Given the description of an element on the screen output the (x, y) to click on. 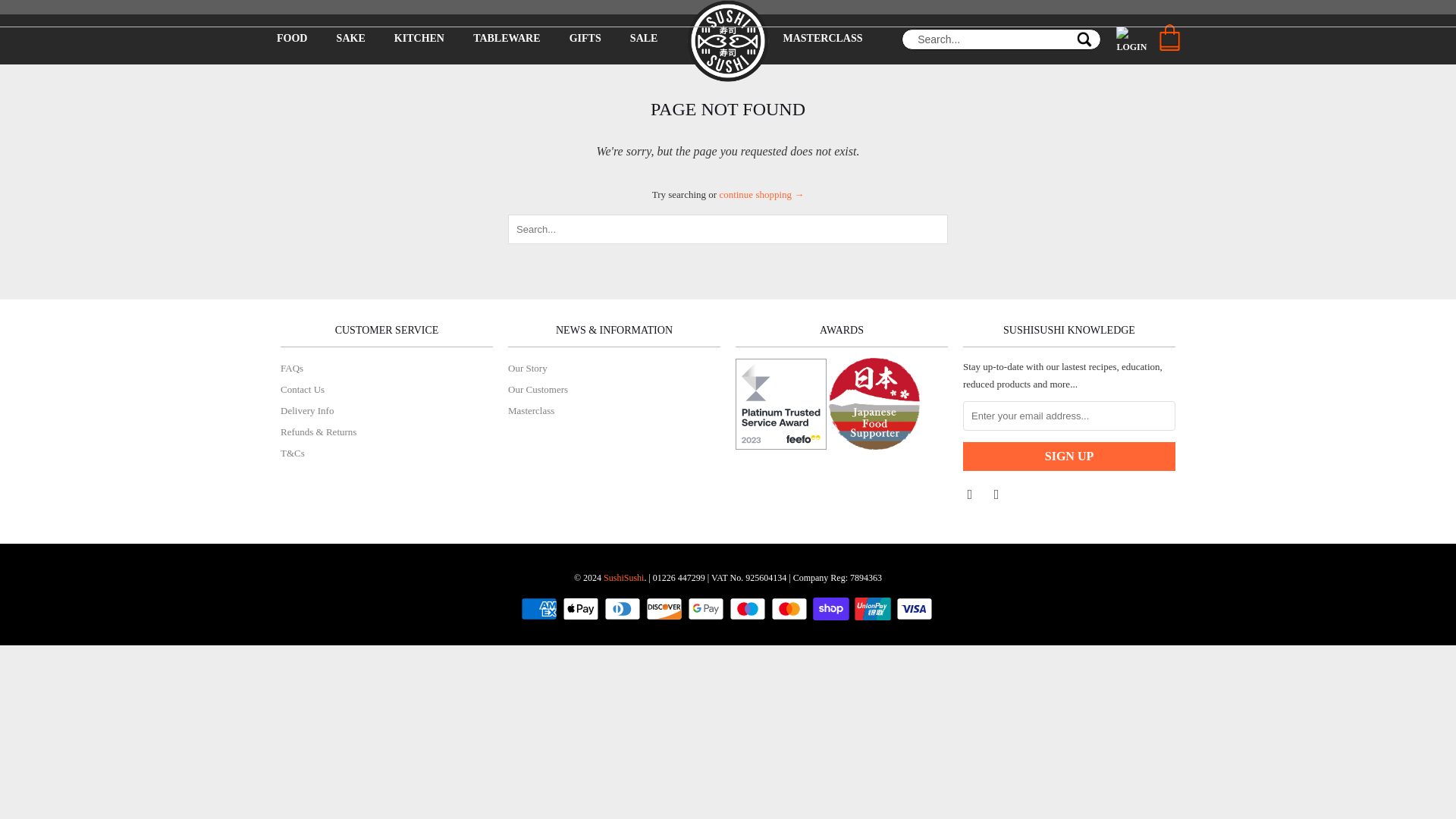
Delivery Info (307, 410)
Masterclass (531, 410)
Our Story (527, 367)
SushiSushi on YouTube (970, 493)
Our Customers (537, 389)
Sign Up (1068, 456)
SushiSushi on Instagram (998, 493)
FAQs (291, 367)
Contact Us (302, 389)
